Given the description of an element on the screen output the (x, y) to click on. 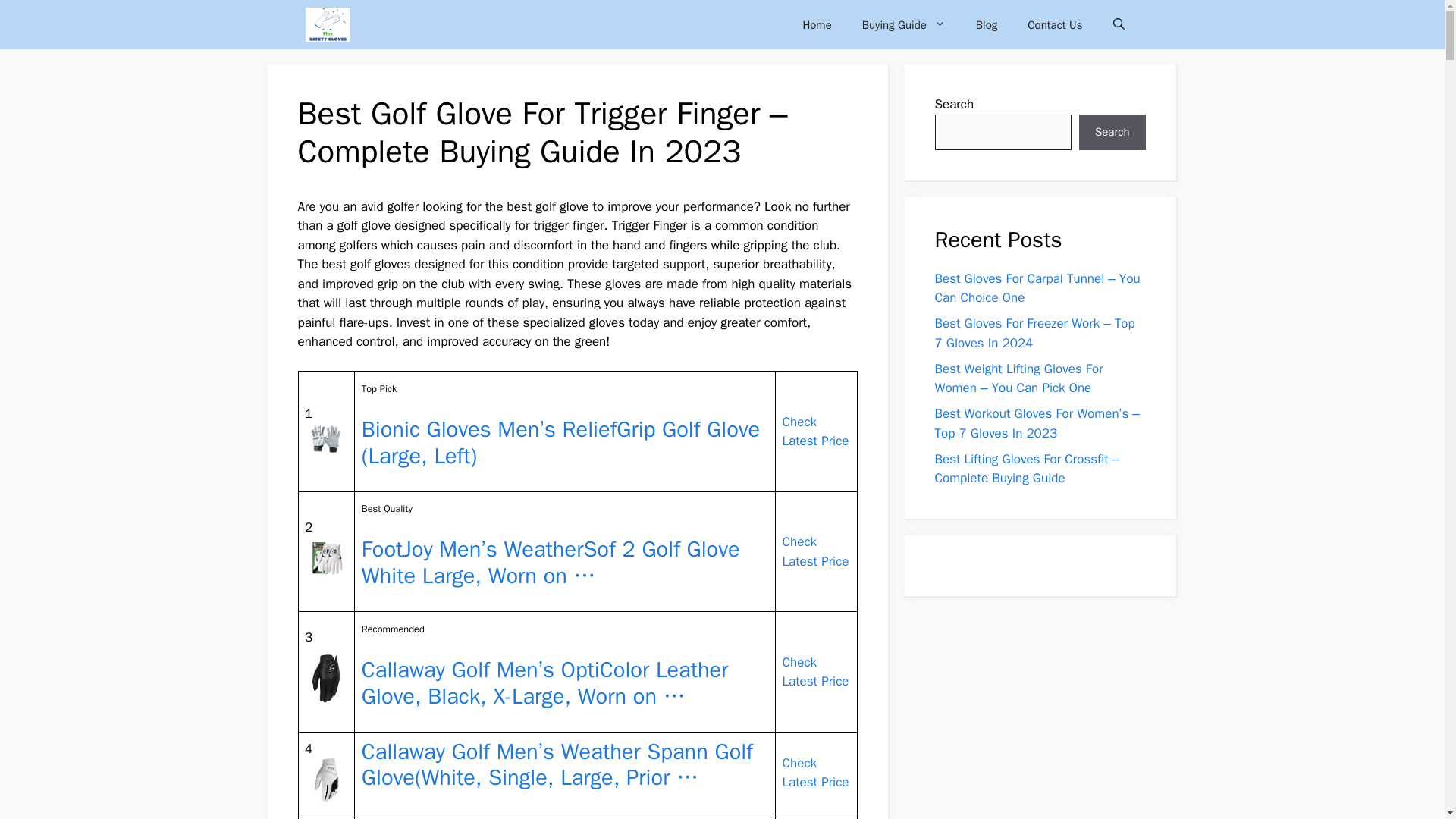
Blog (985, 23)
Pick Safety Gloves (326, 24)
Home (816, 23)
Check Latest Price (815, 431)
Check Latest Price (815, 773)
Check Latest Price (815, 551)
Check Latest Price (815, 672)
Contact Us (1054, 23)
Buying Guide (903, 23)
